Given the description of an element on the screen output the (x, y) to click on. 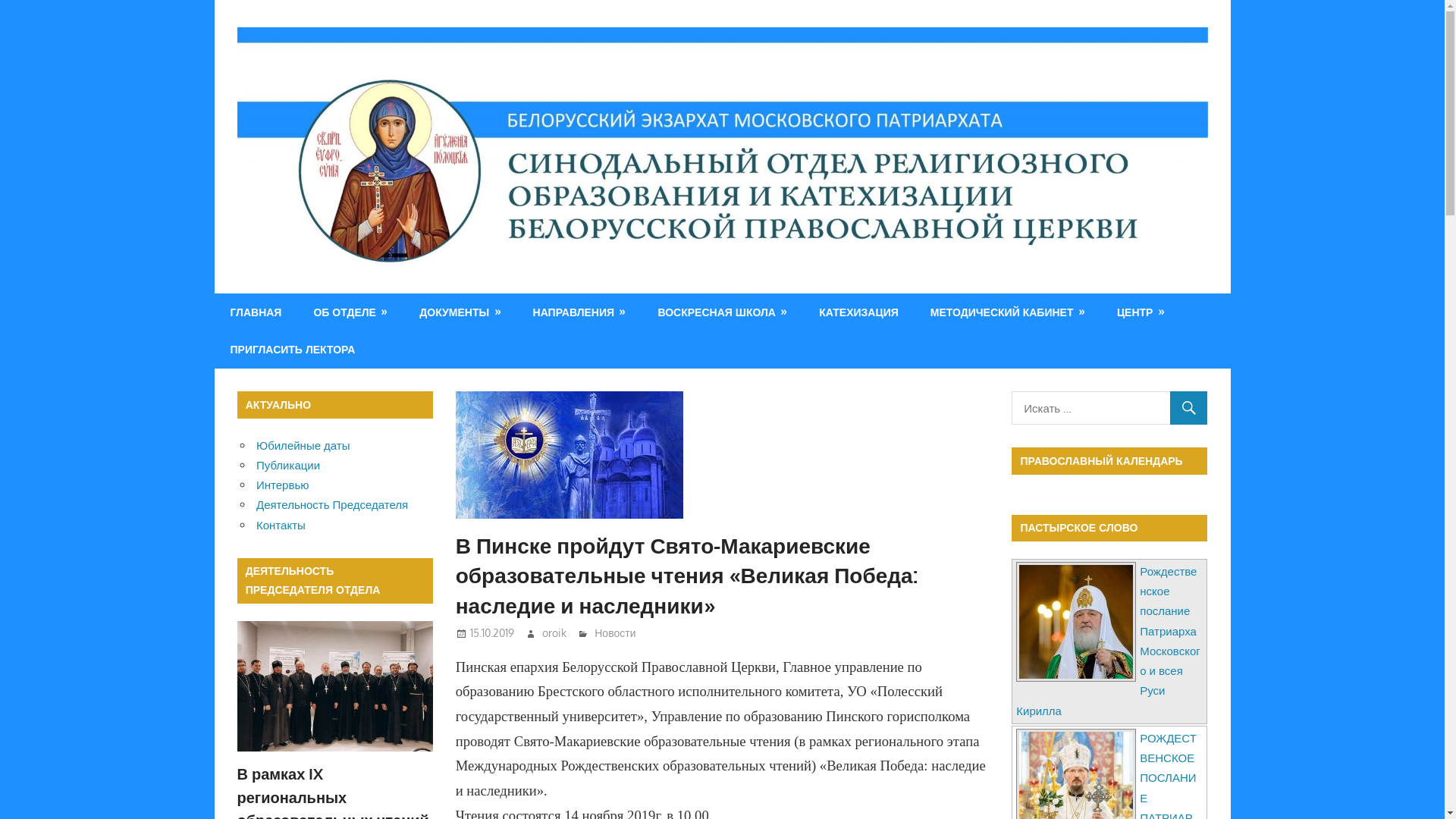
15.10.2019 Element type: text (492, 632)
oroik Element type: text (554, 632)
